Given the description of an element on the screen output the (x, y) to click on. 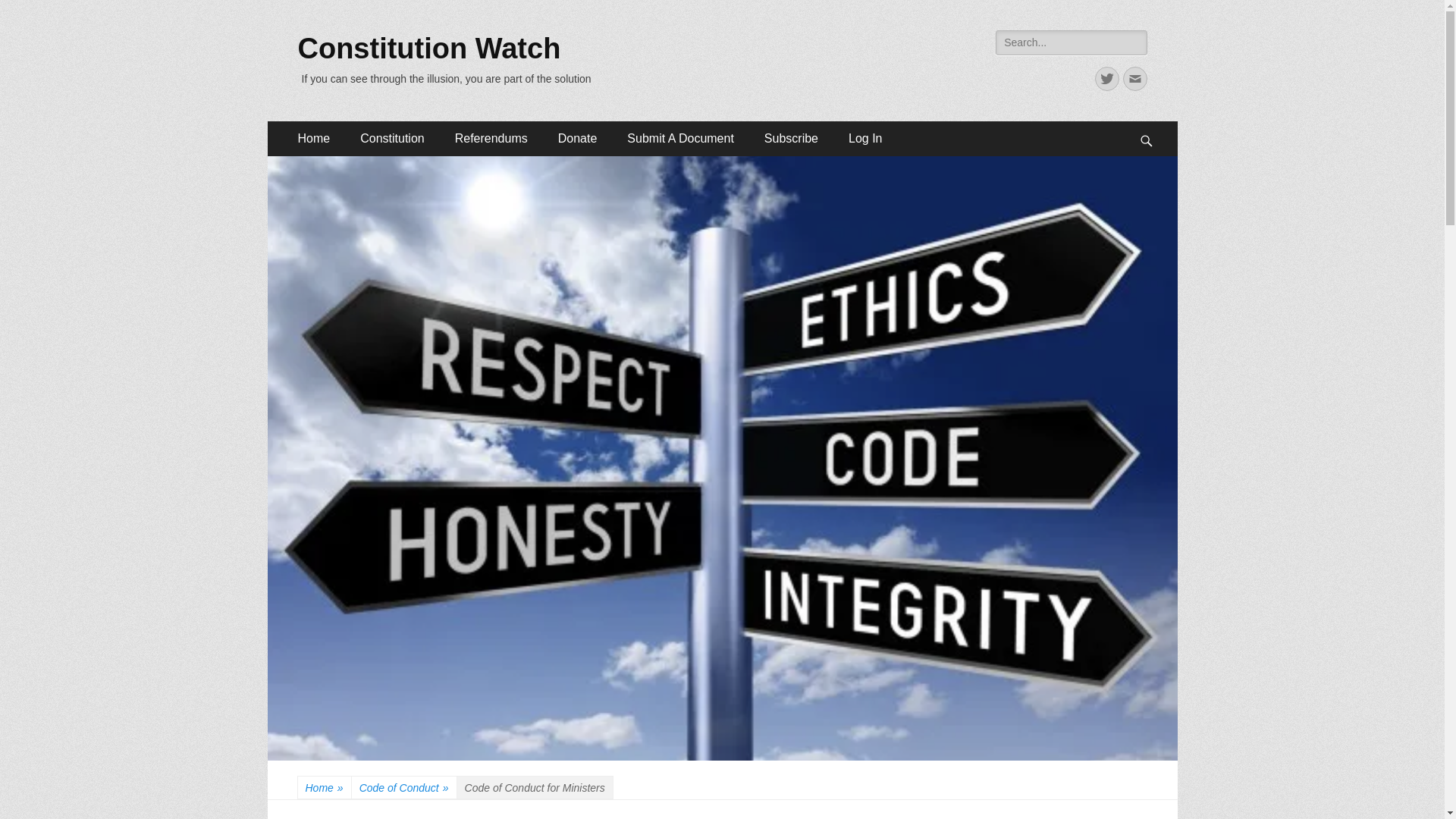
Email (1134, 78)
Log In (864, 138)
Twitter (1106, 78)
Constitution Watch (428, 48)
Donate (577, 138)
Email (1134, 78)
Constitution (392, 138)
Home (313, 138)
Search for: (1071, 42)
Search (33, 13)
Subscribe (790, 138)
Referendums (491, 138)
Submit A Document (680, 138)
Twitter (1106, 78)
